Given the description of an element on the screen output the (x, y) to click on. 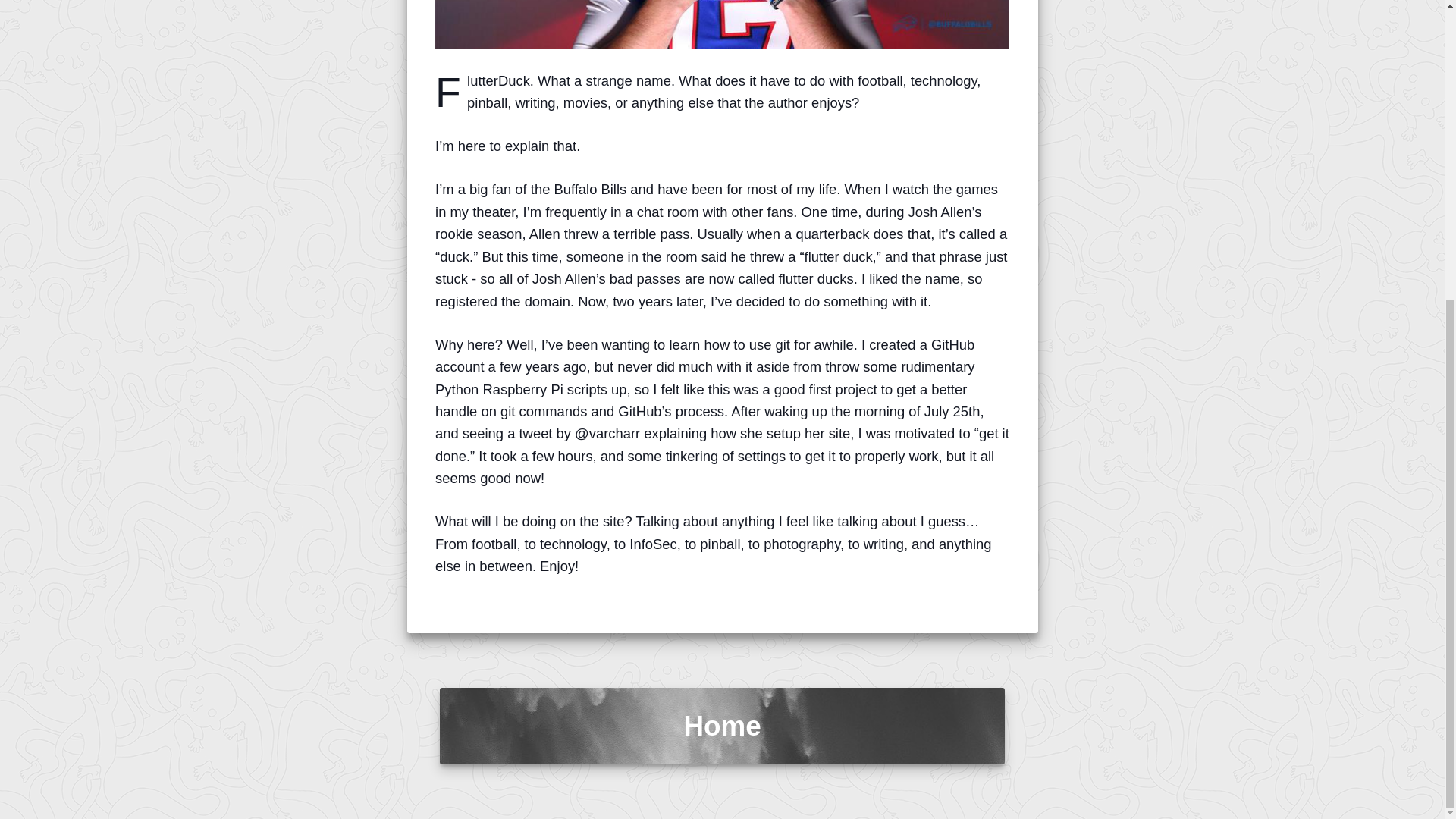
Home (722, 725)
